Given the description of an element on the screen output the (x, y) to click on. 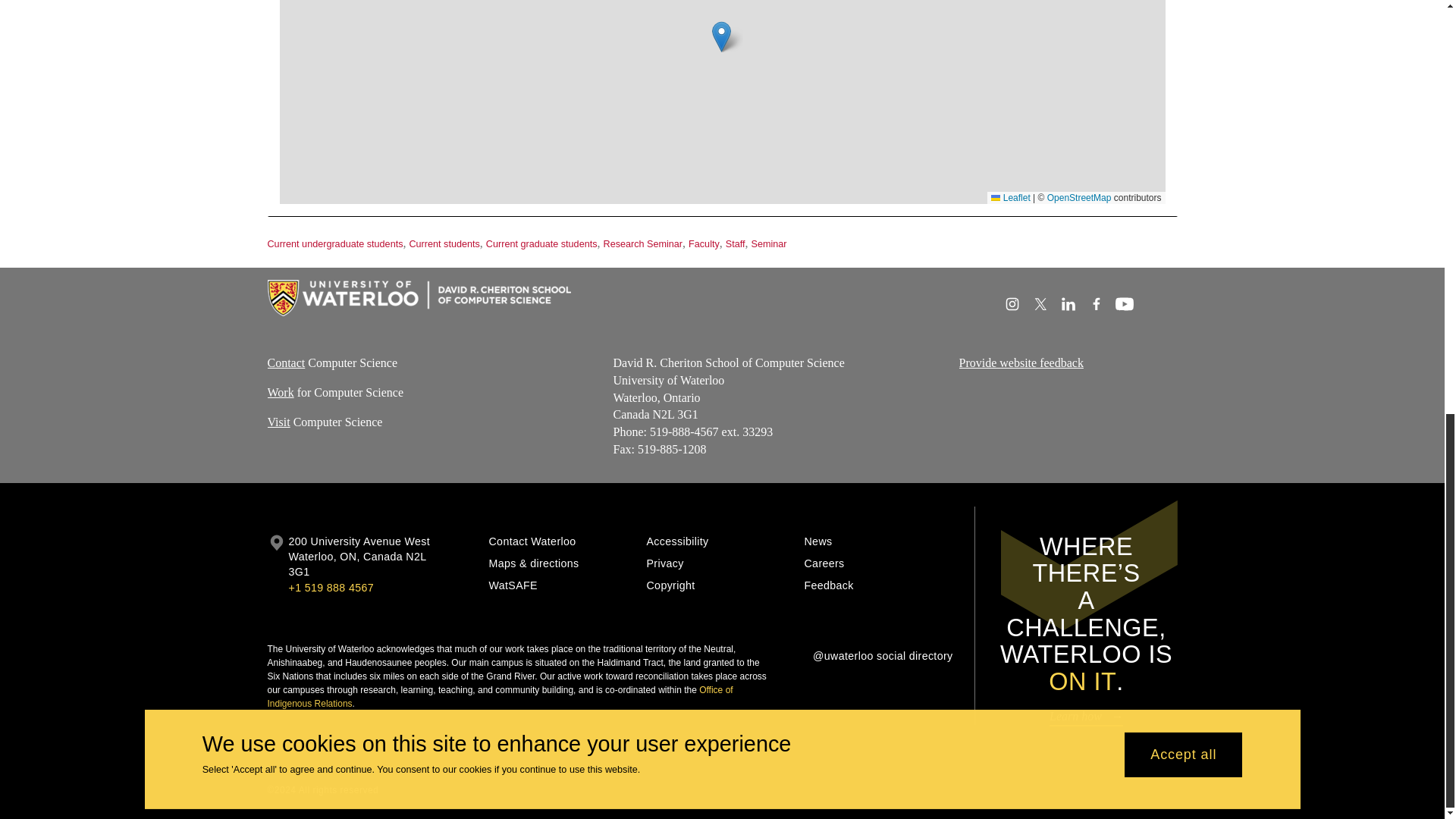
A JavaScript library for interactive maps (1010, 197)
